Given the description of an element on the screen output the (x, y) to click on. 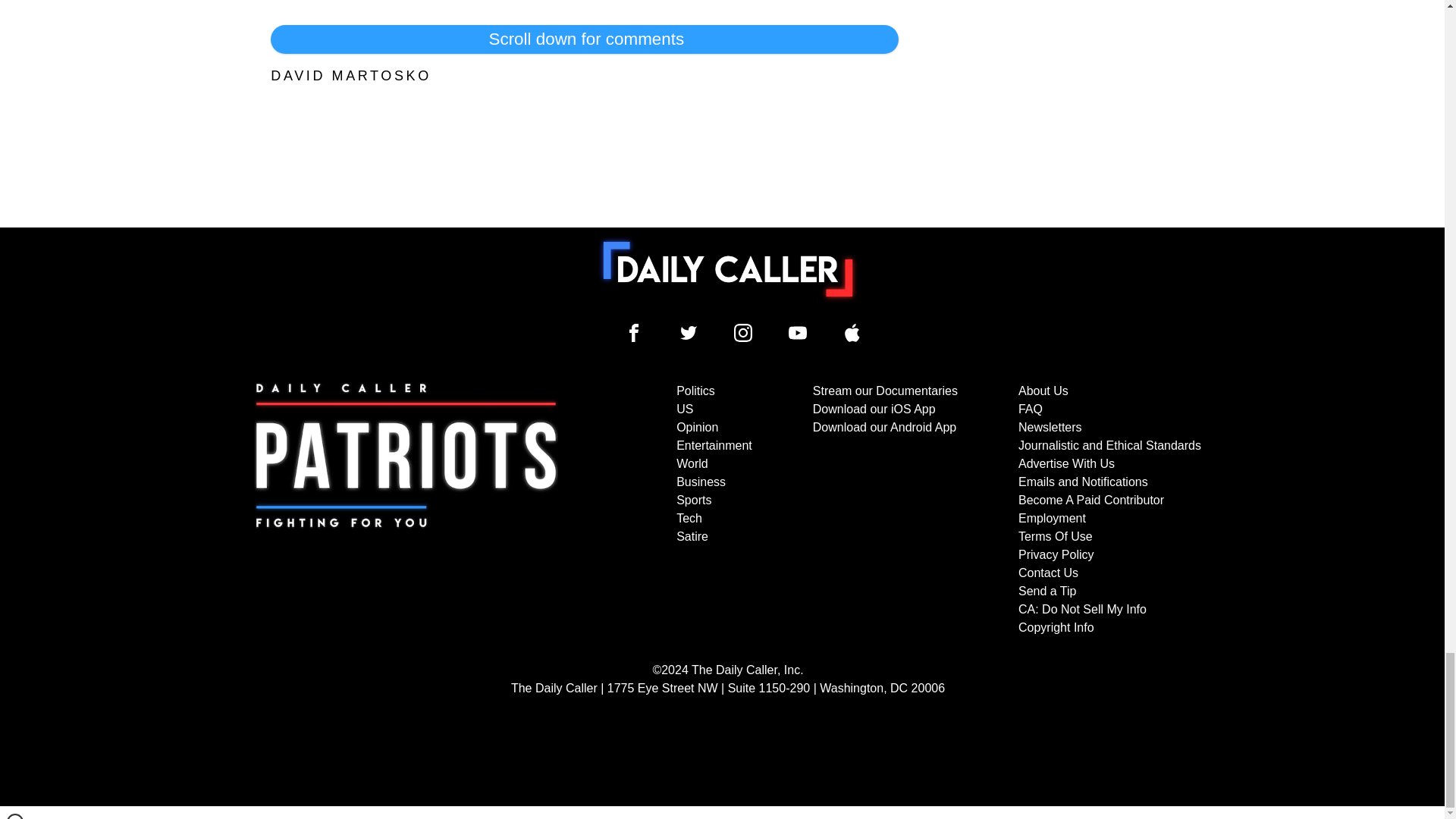
Scroll down for comments (584, 39)
Subscribe to The Daily Caller (405, 509)
To home page (727, 268)
Daily Caller YouTube (797, 332)
Daily Caller Twitter (688, 332)
Daily Caller YouTube (852, 332)
Daily Caller Instagram (742, 332)
Daily Caller Facebook (633, 332)
